Given the description of an element on the screen output the (x, y) to click on. 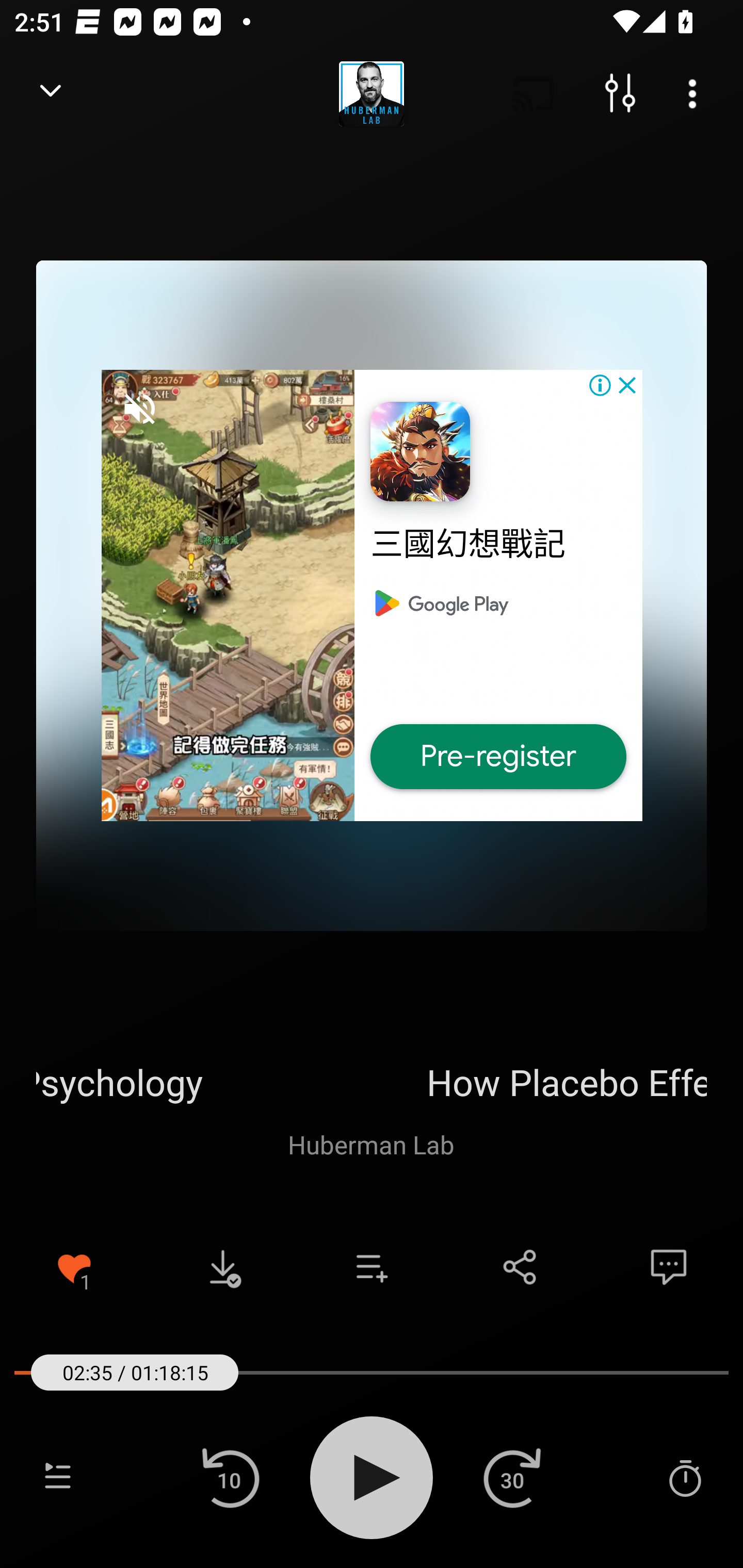
Cast. Disconnected (533, 93)
 Back (50, 94)
三國幻想戰記 Pre-register Pre-register (371, 595)
Pre-register (498, 757)
Huberman Lab (370, 1144)
Comments (668, 1266)
Remove from Favorites (73, 1266)
Add to playlist (371, 1266)
Share (519, 1266)
 Playlist (57, 1477)
Sleep Timer  (684, 1477)
